Given the description of an element on the screen output the (x, y) to click on. 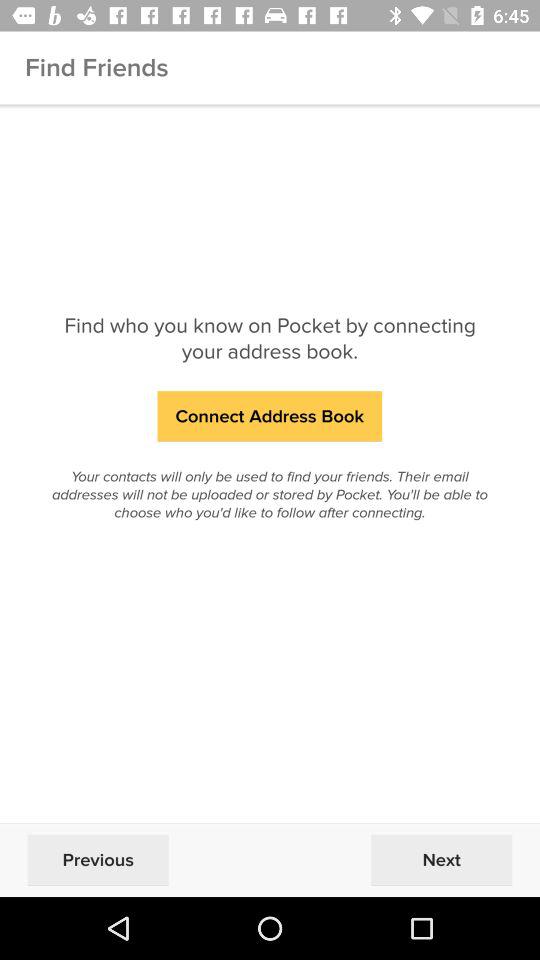
click the previous at the bottom left corner (98, 859)
